Given the description of an element on the screen output the (x, y) to click on. 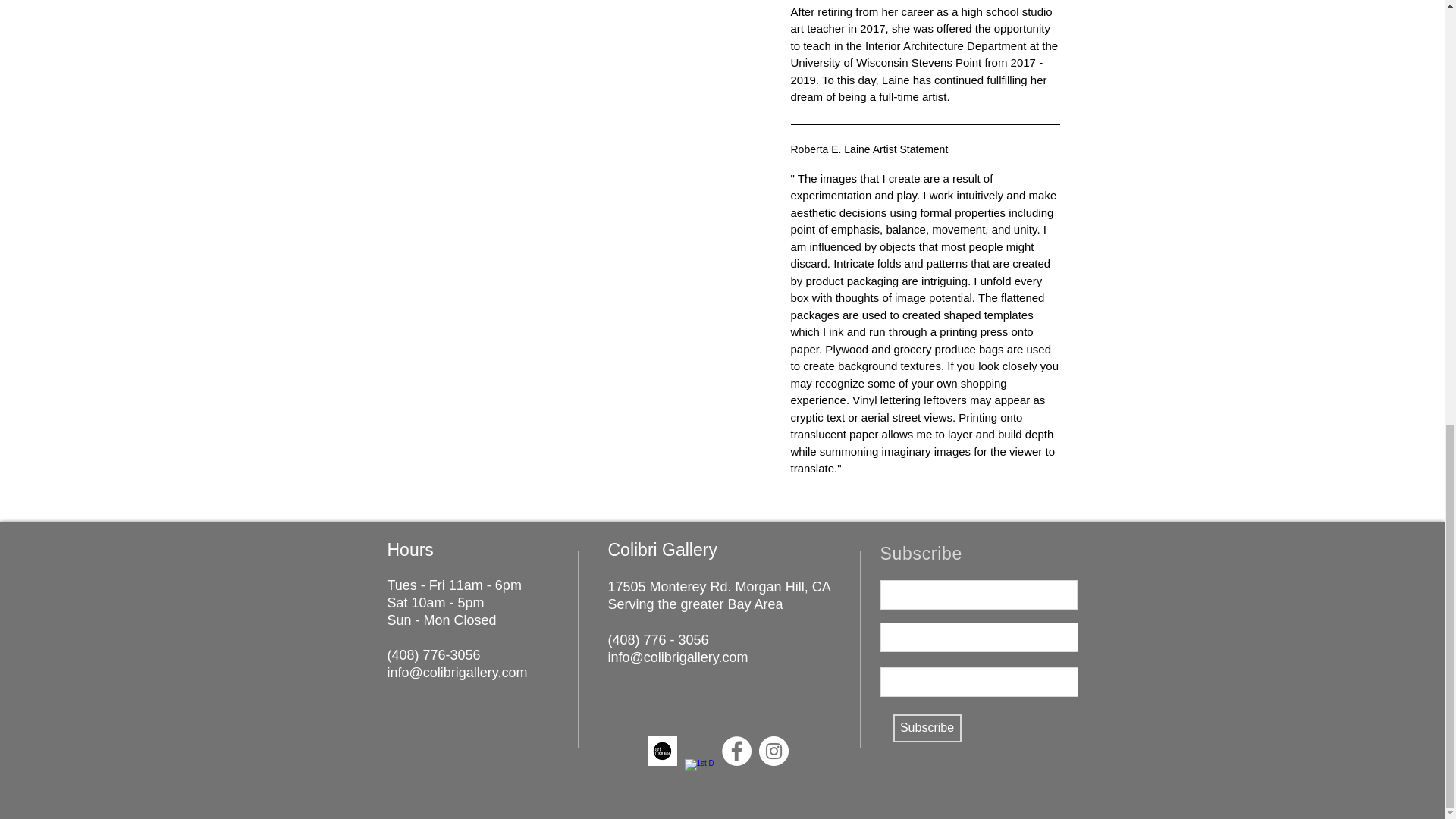
Colibri Gallery (662, 549)
Roberta E. Laine Artist Statement (924, 150)
Subscribe (926, 728)
